Given the description of an element on the screen output the (x, y) to click on. 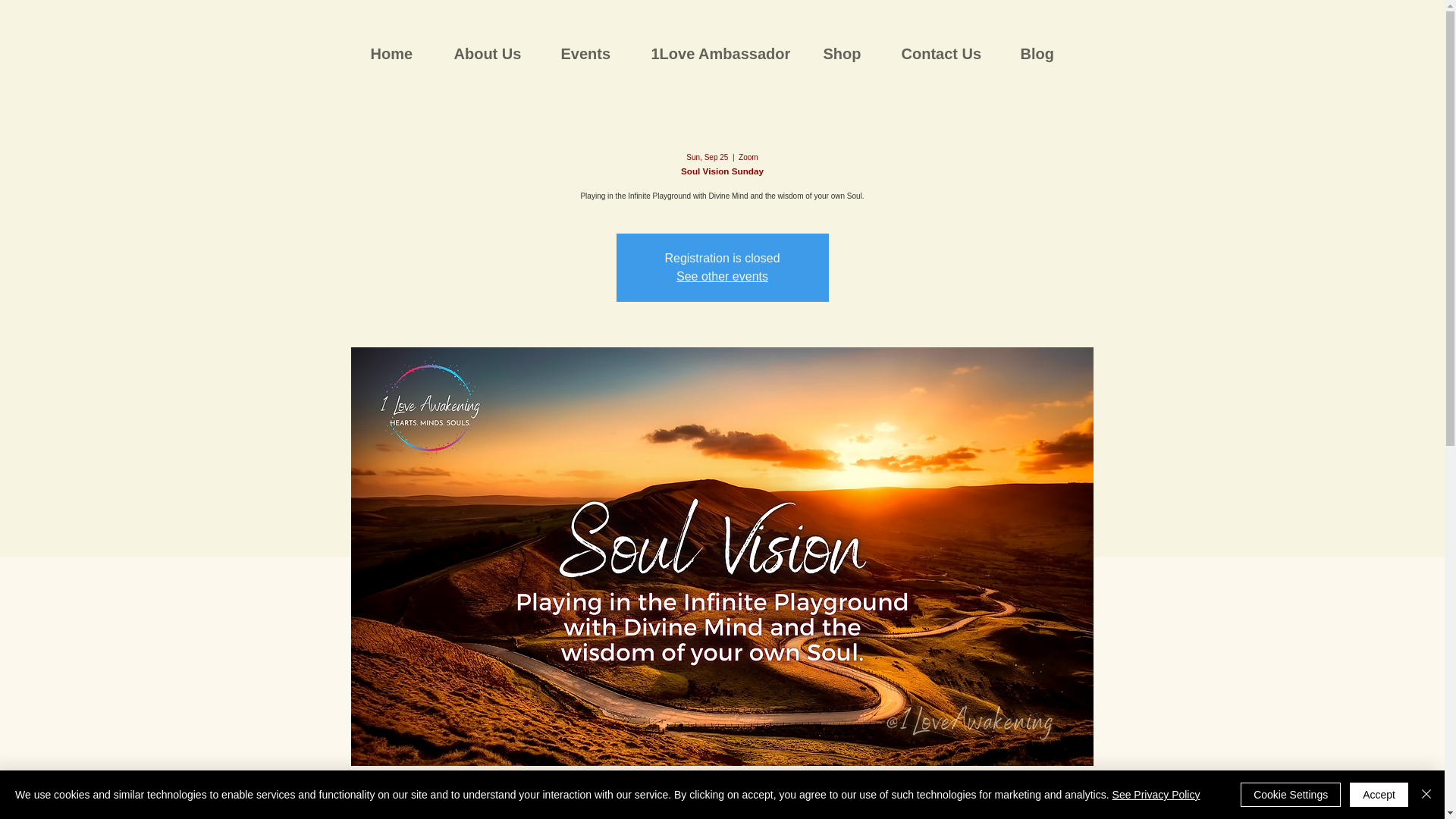
Cookie Settings (1290, 794)
See other events (722, 276)
Events (593, 53)
Shop (849, 53)
Donate today to 1 Love Awakening (1046, 29)
1Love Ambassador (726, 53)
Accept (1378, 794)
About Us (496, 53)
Contact Us (949, 53)
Blog (1045, 53)
See Privacy Policy (1155, 794)
Home (400, 53)
